Given the description of an element on the screen output the (x, y) to click on. 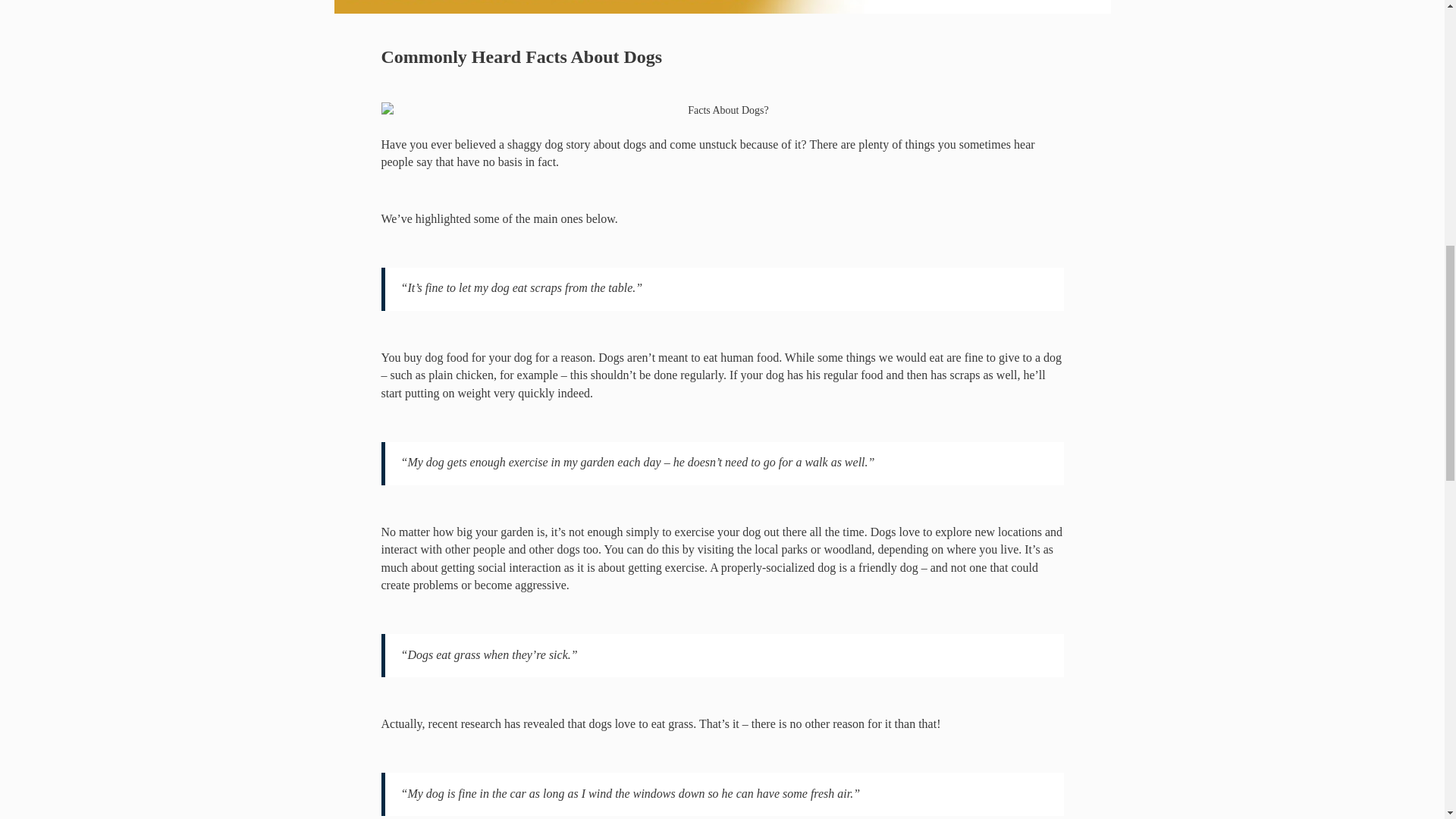
Facts About Dogs? (721, 110)
Dogs (611, 357)
